Given the description of an element on the screen output the (x, y) to click on. 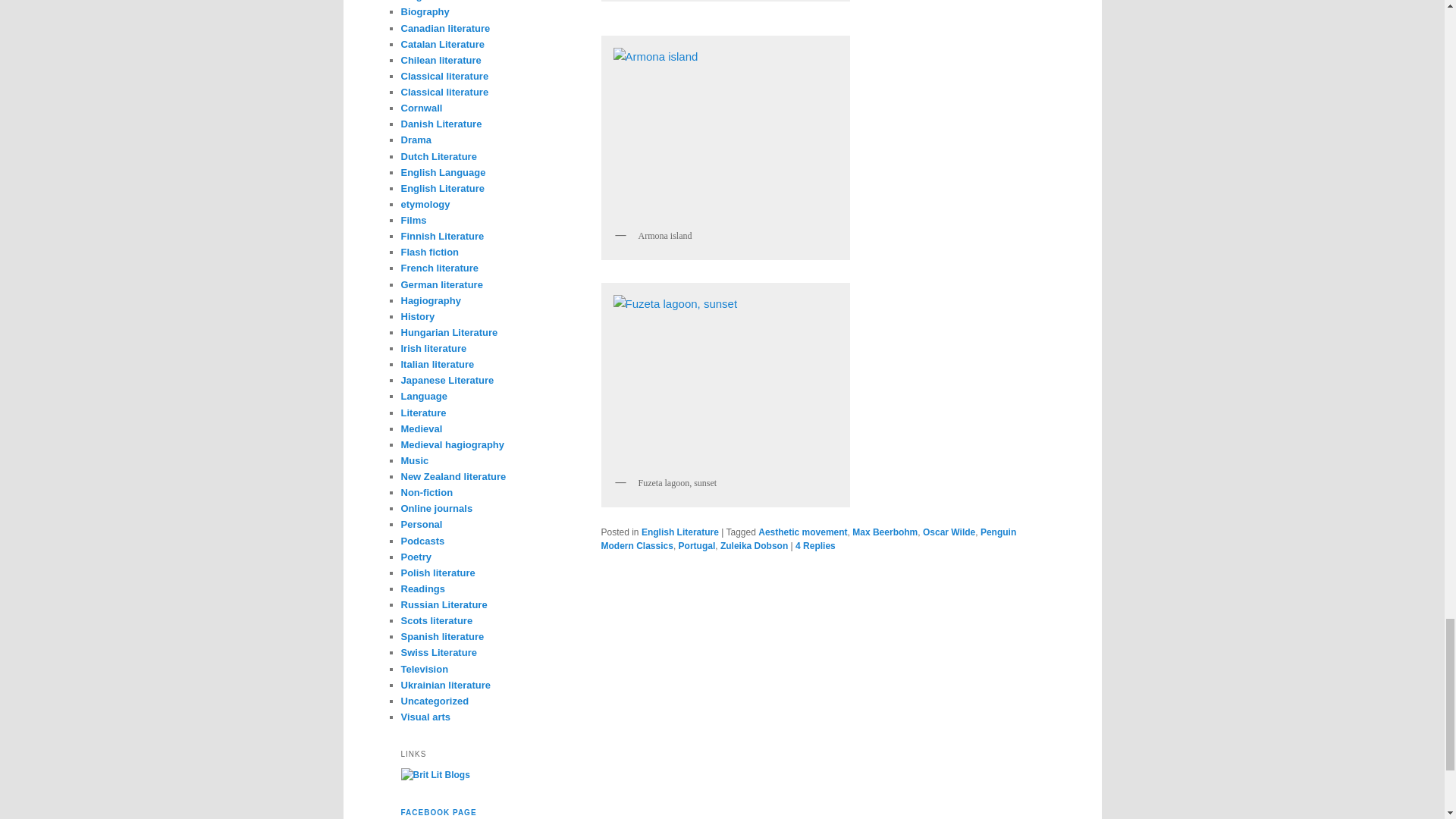
Portugal (697, 545)
Aesthetic movement (802, 532)
Max Beerbohm (884, 532)
4 Replies (814, 545)
Zuleika Dobson (753, 545)
Penguin Modern Classics (807, 539)
Oscar Wilde (949, 532)
English Literature (680, 532)
